Given the description of an element on the screen output the (x, y) to click on. 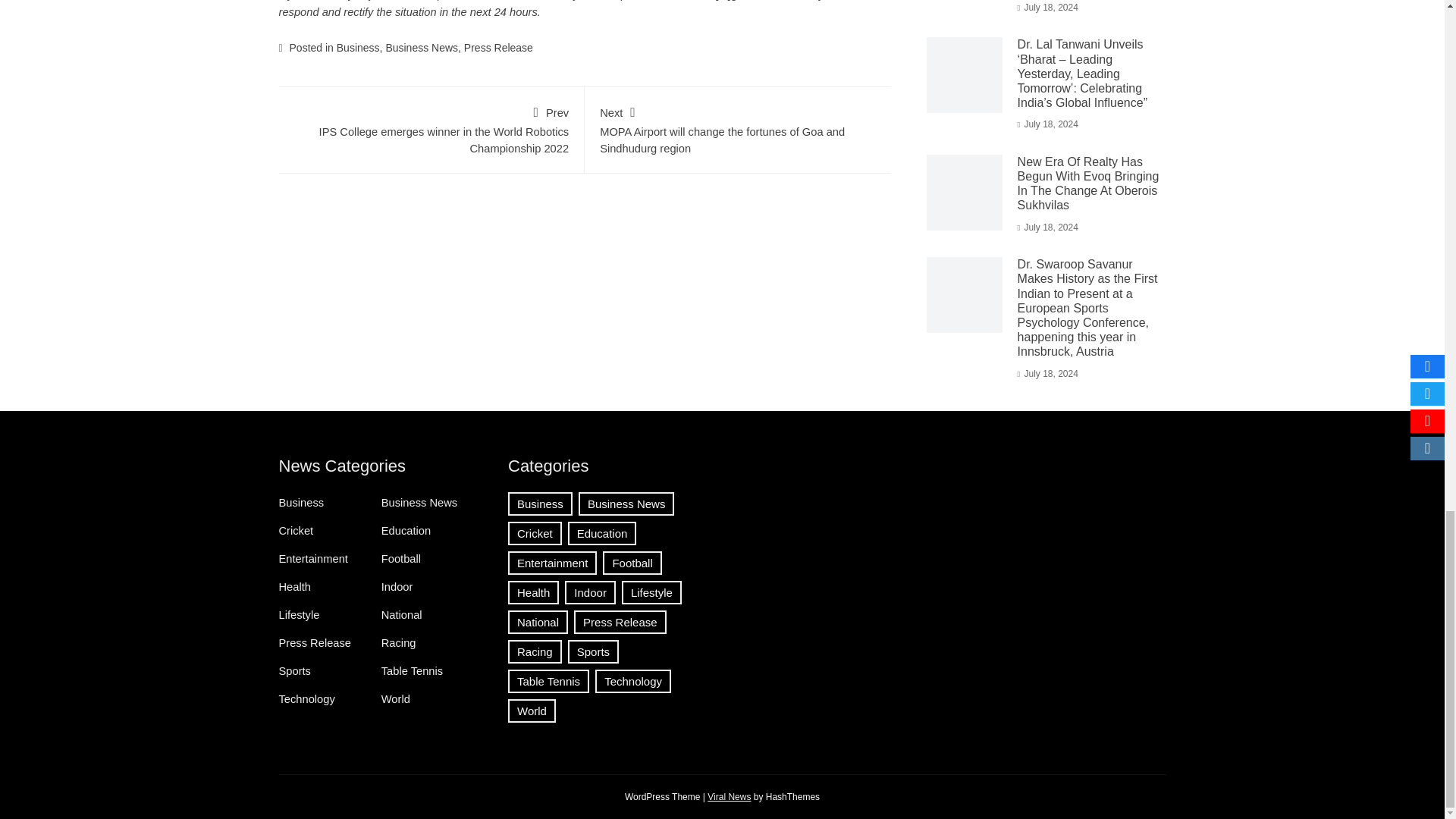
Download Viral News (729, 796)
Press Release (498, 47)
Business News (421, 47)
Business (358, 47)
